Given the description of an element on the screen output the (x, y) to click on. 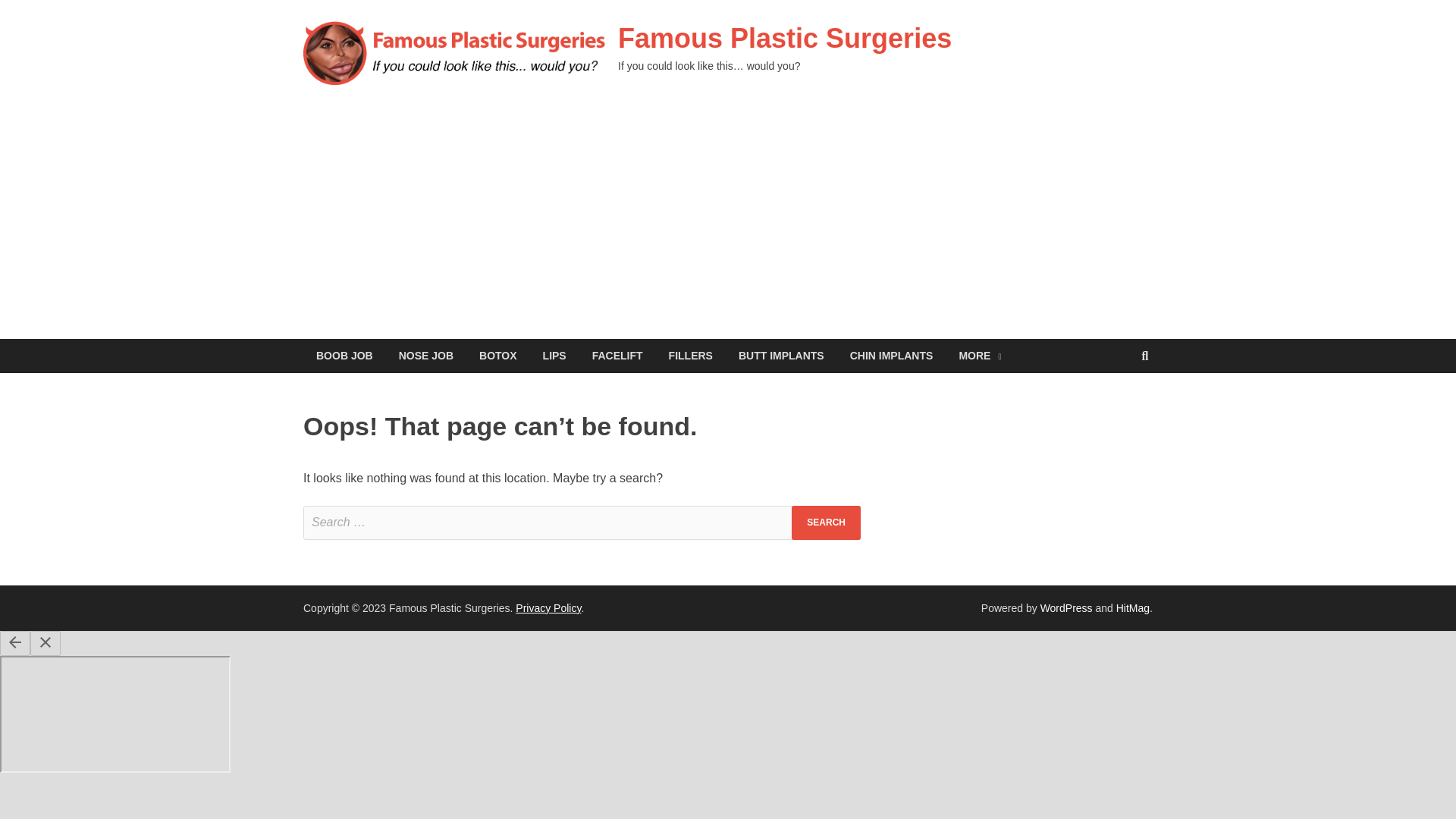
Search (826, 522)
MORE (978, 356)
NOSE JOB (425, 356)
LIPS (554, 356)
BOOB JOB (343, 356)
FACELIFT (617, 356)
HitMag WordPress Theme (1133, 607)
CHIN IMPLANTS (891, 356)
HitMag (1133, 607)
